Given the description of an element on the screen output the (x, y) to click on. 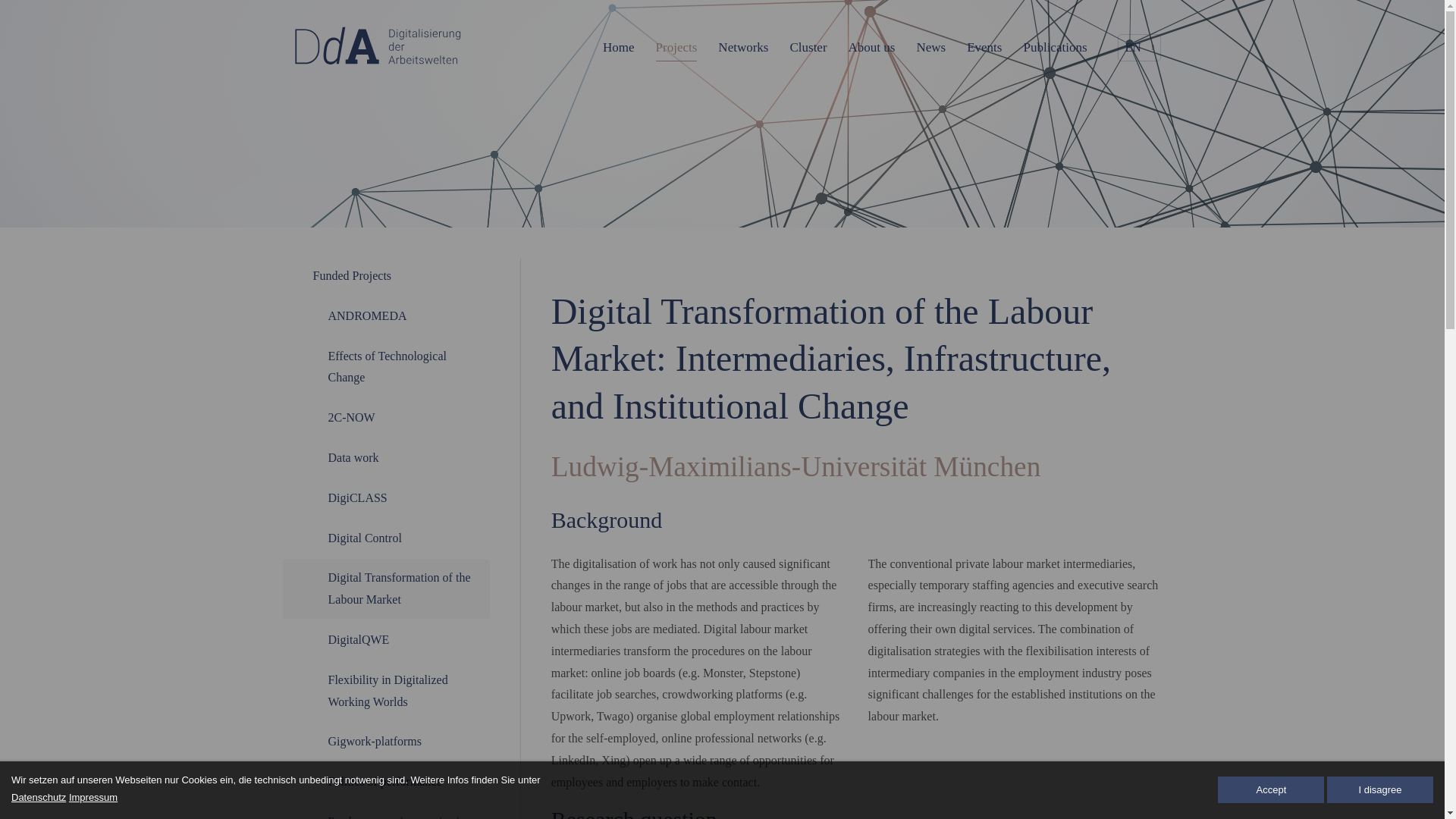
Funded Projects (385, 275)
Flexibility in Digitalized Working Worlds (385, 691)
2C-NOW (385, 417)
ANDROMEDA (385, 316)
Digital Control (385, 538)
Data work (385, 457)
DigiCLASS (385, 497)
Funded Projects (385, 275)
Digital Transformation of the Labour Market (385, 589)
2C-NOW (385, 417)
